Given the description of an element on the screen output the (x, y) to click on. 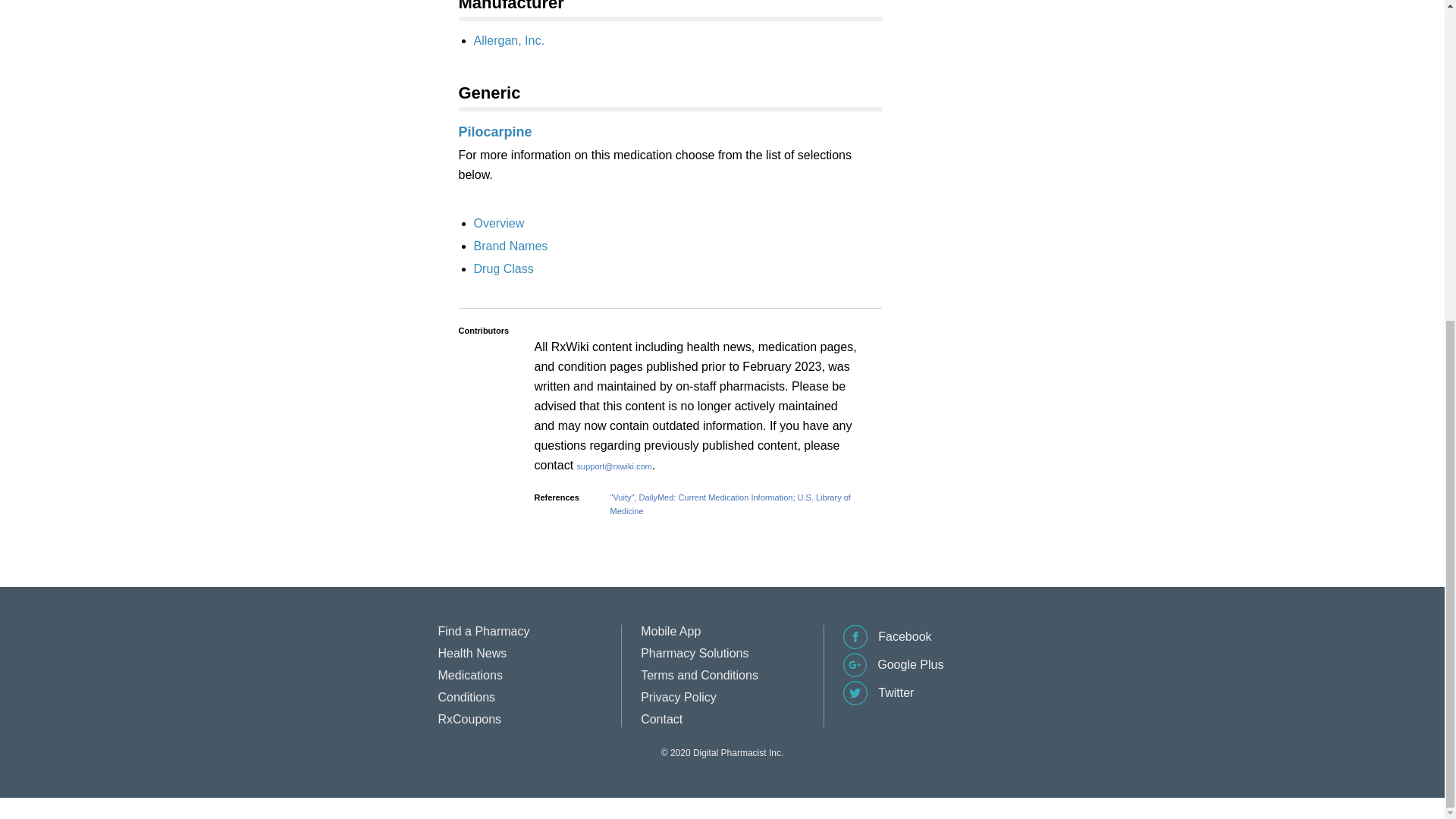
Pilocarpine (494, 131)
Brand Names (510, 245)
Overview (498, 223)
Drug Class (502, 268)
Allergan, Inc. (508, 40)
